Given the description of an element on the screen output the (x, y) to click on. 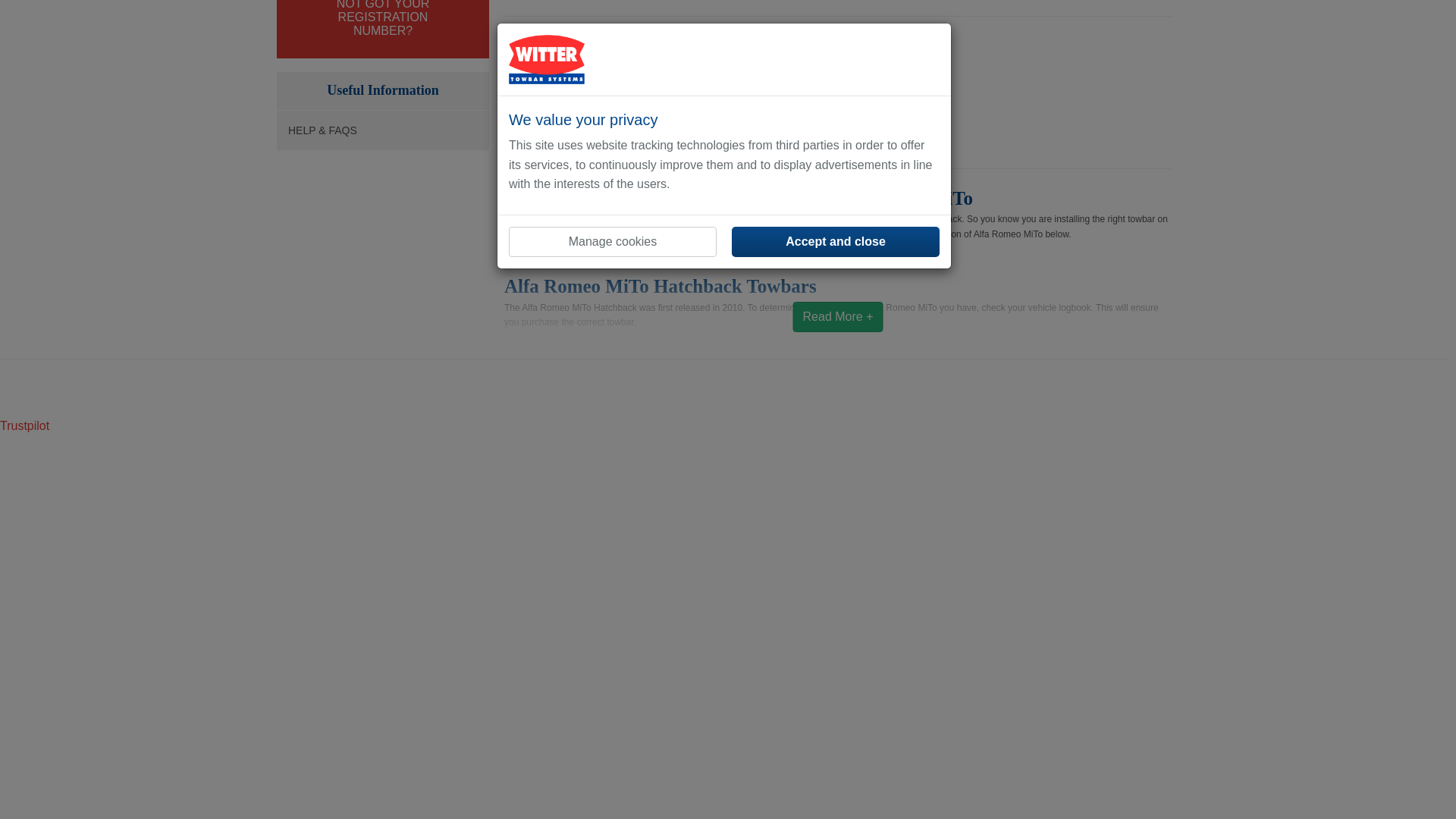
Trustpilot (24, 425)
NOT GOT YOUR REGISTRATION NUMBER? (382, 18)
